Given the description of an element on the screen output the (x, y) to click on. 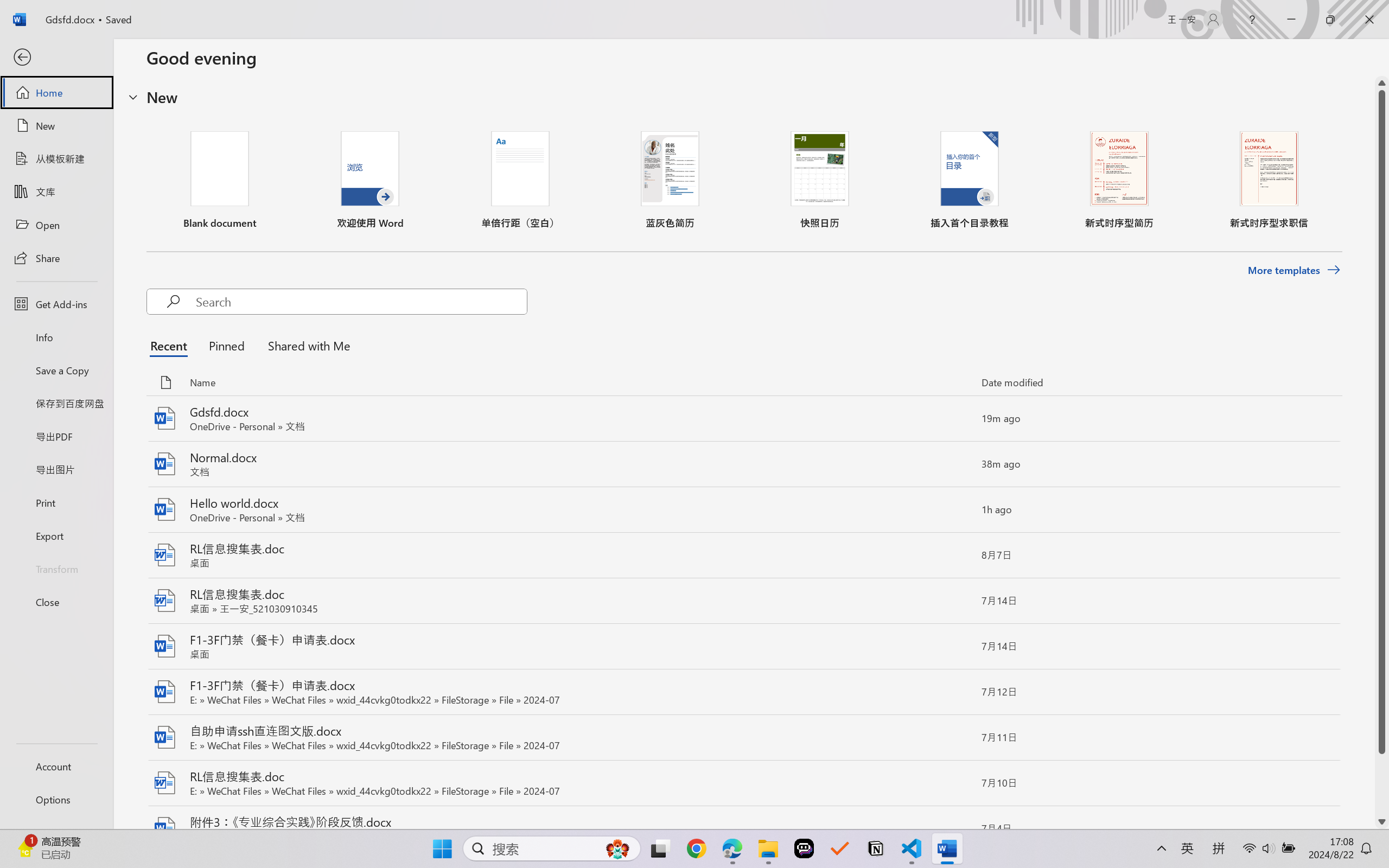
Close Master View (444, 62)
Format Background... (385, 91)
Zoom 50% (1365, 837)
Colors (274, 46)
